Given the description of an element on the screen output the (x, y) to click on. 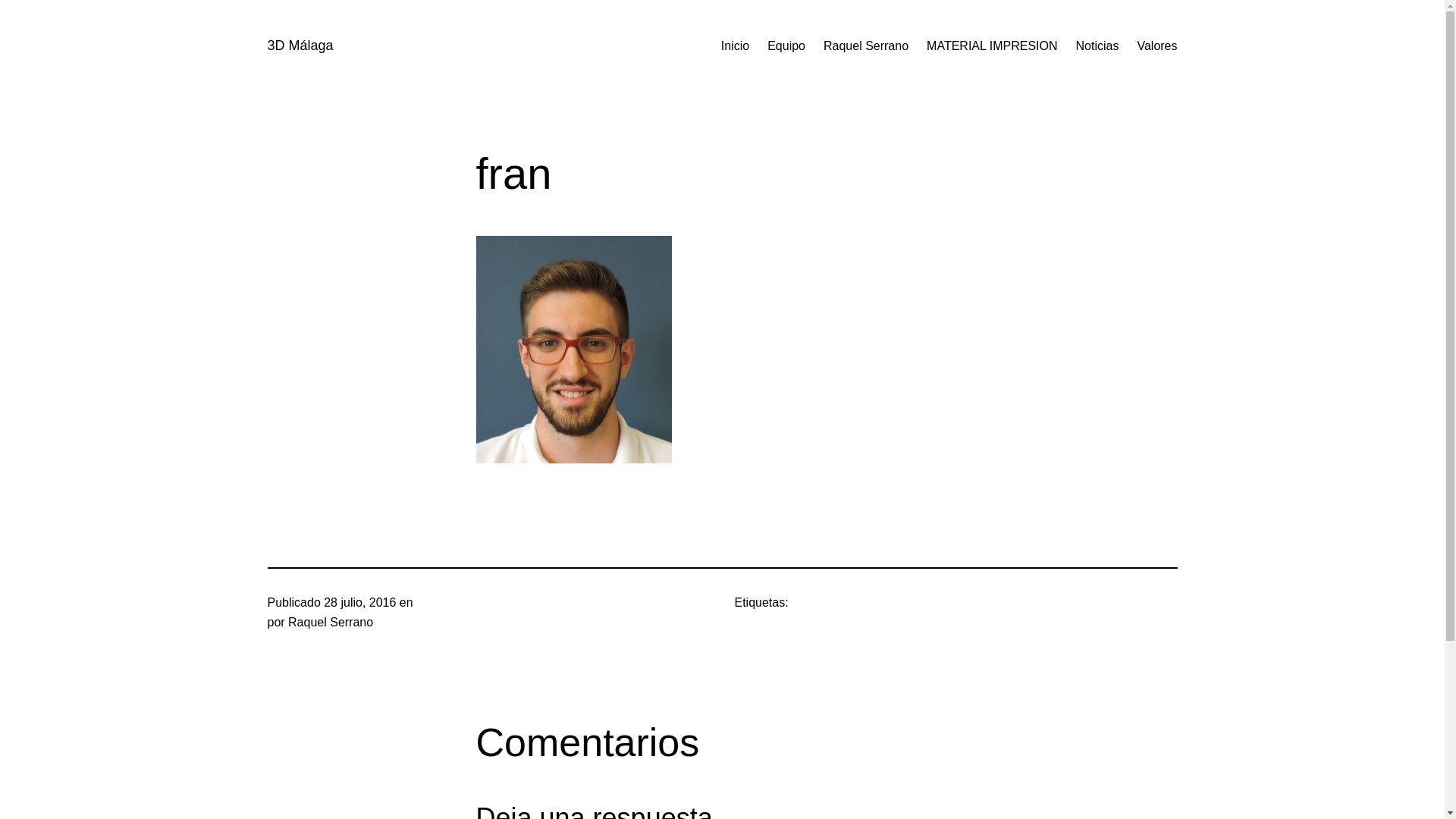
Valores Element type: text (1156, 46)
Inicio Element type: text (735, 46)
Raquel Serrano Element type: text (865, 46)
Equipo Element type: text (786, 46)
Noticias Element type: text (1097, 46)
MATERIAL IMPRESION Element type: text (991, 46)
